Given the description of an element on the screen output the (x, y) to click on. 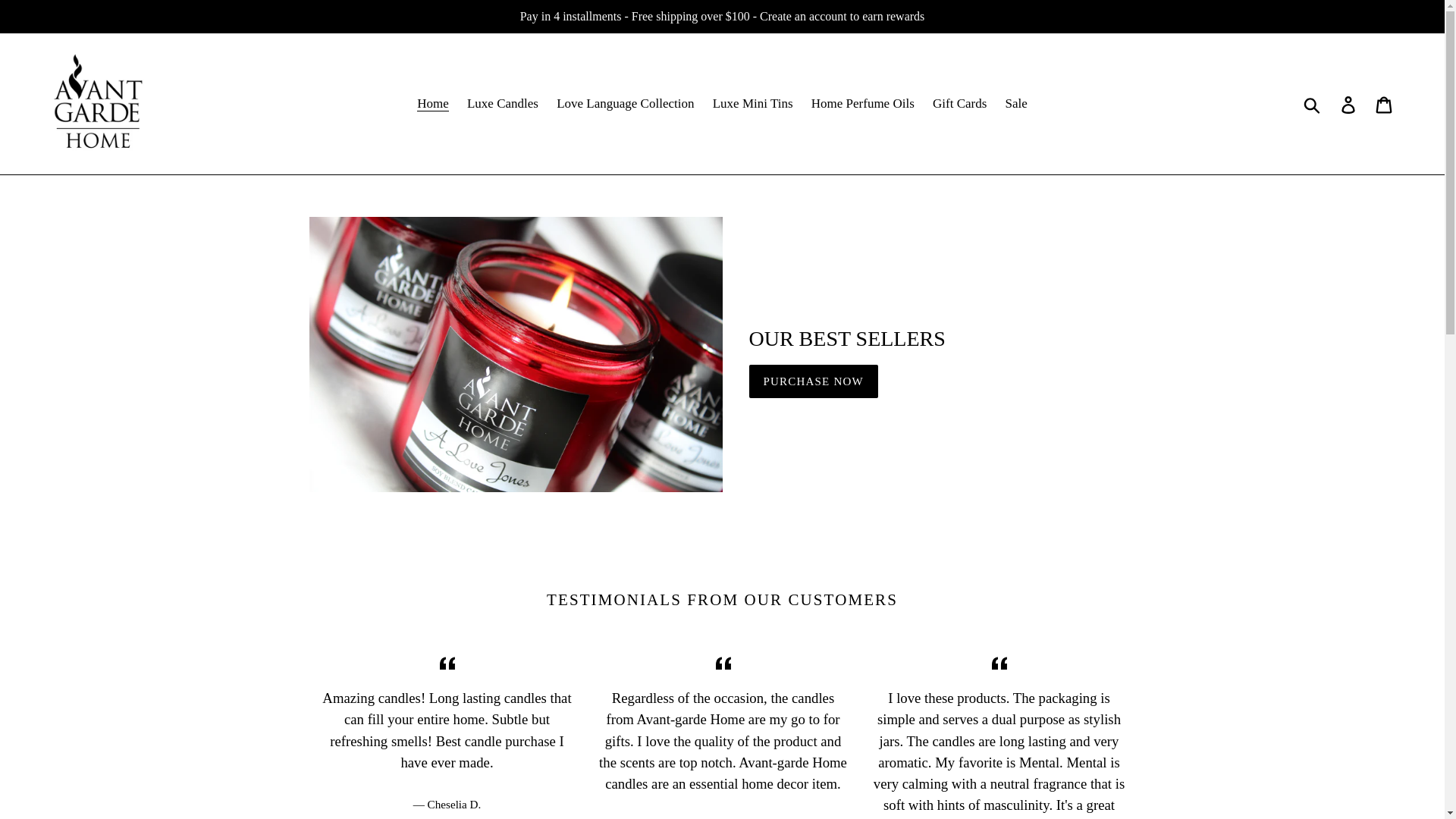
Luxe Mini Tins (752, 103)
Cart (1385, 103)
Sale (1016, 103)
PURCHASE NOW (813, 381)
Home Perfume Oils (862, 103)
Gift Cards (959, 103)
Luxe Candles (503, 103)
Home (433, 103)
Submit (1313, 103)
Love Language Collection (624, 103)
